Given the description of an element on the screen output the (x, y) to click on. 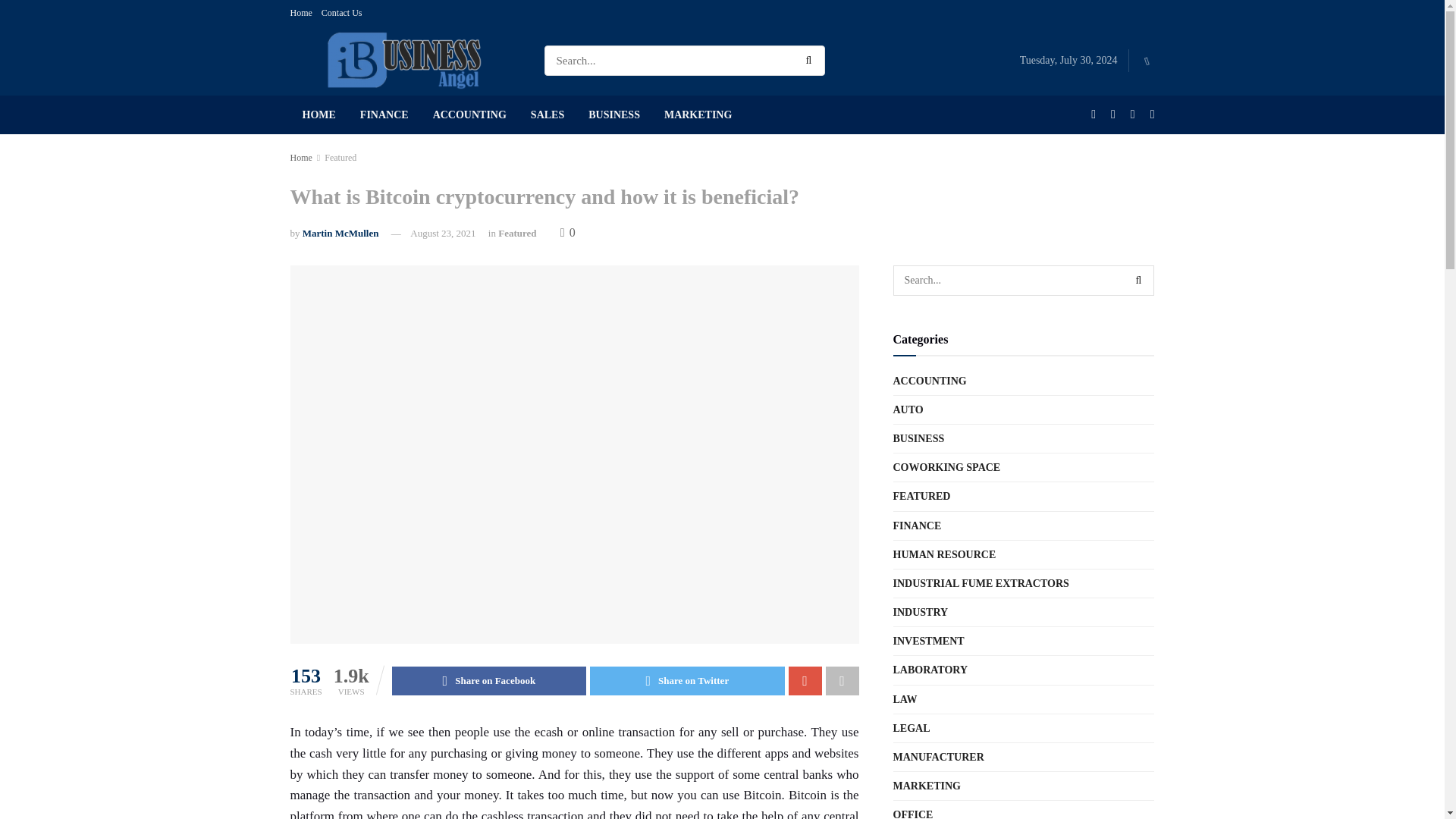
SALES (547, 114)
HOME (318, 114)
Share on Facebook (488, 680)
Featured (516, 233)
Martin McMullen (340, 233)
0 (567, 232)
BUSINESS (614, 114)
FINANCE (383, 114)
Contact Us (341, 12)
Featured (340, 157)
Share on Twitter (686, 680)
August 23, 2021 (443, 233)
Home (300, 157)
ACCOUNTING (469, 114)
MARKETING (698, 114)
